Given the description of an element on the screen output the (x, y) to click on. 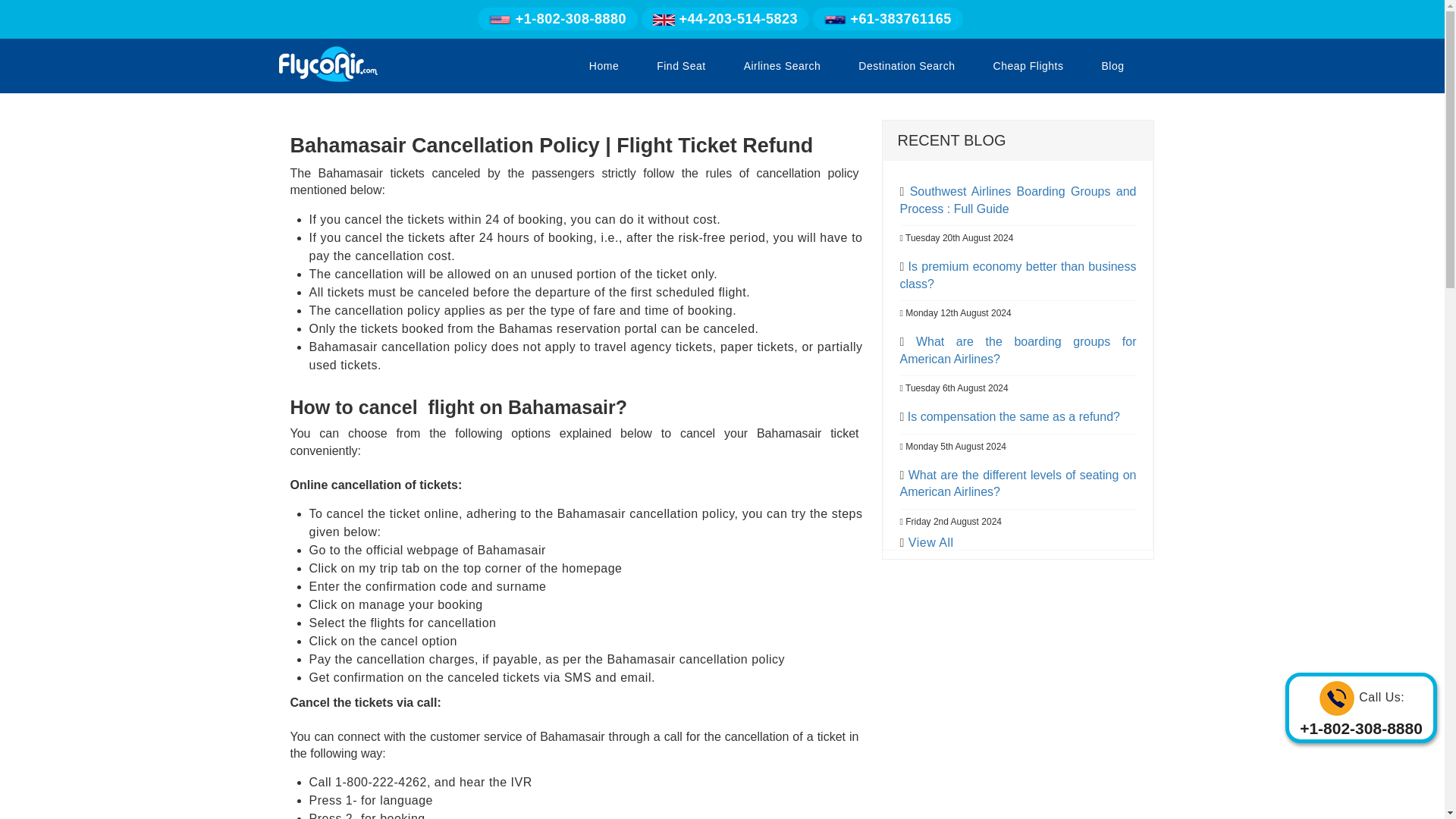
View All (930, 542)
Southwest Airlines Boarding Groups and Process : Full Guide (1017, 199)
Destination Search (906, 65)
Blog (1112, 65)
Is premium economy better than business class? (1017, 274)
What are the boarding groups for American Airlines? (1017, 349)
Find Seat (681, 65)
Cheap Flights (1028, 65)
Airlines Search (782, 65)
Home (603, 65)
